Given the description of an element on the screen output the (x, y) to click on. 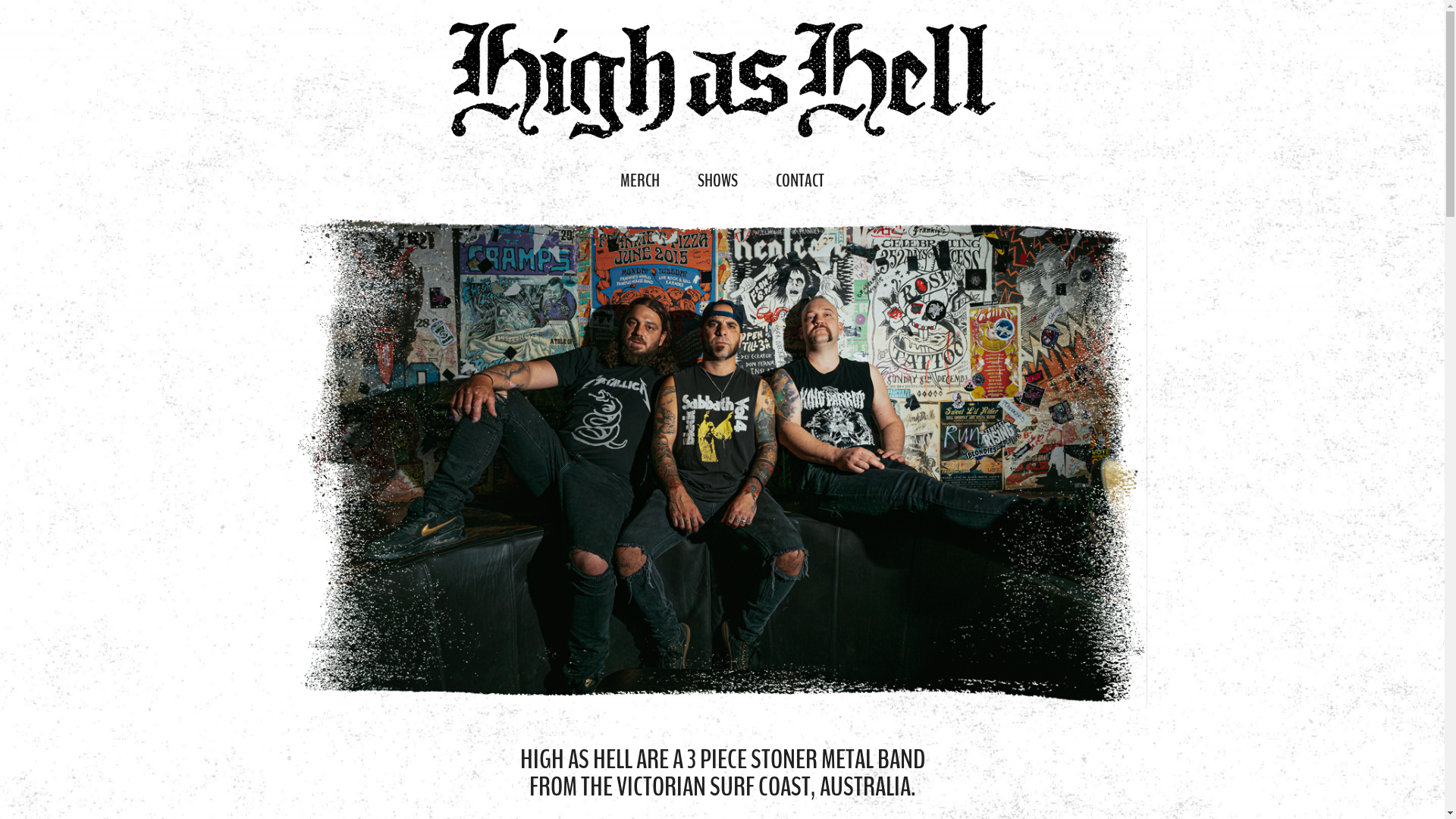
CONTACT Element type: text (799, 180)
MERCH Element type: text (639, 180)
SHOWS Element type: text (717, 180)
